Given the description of an element on the screen output the (x, y) to click on. 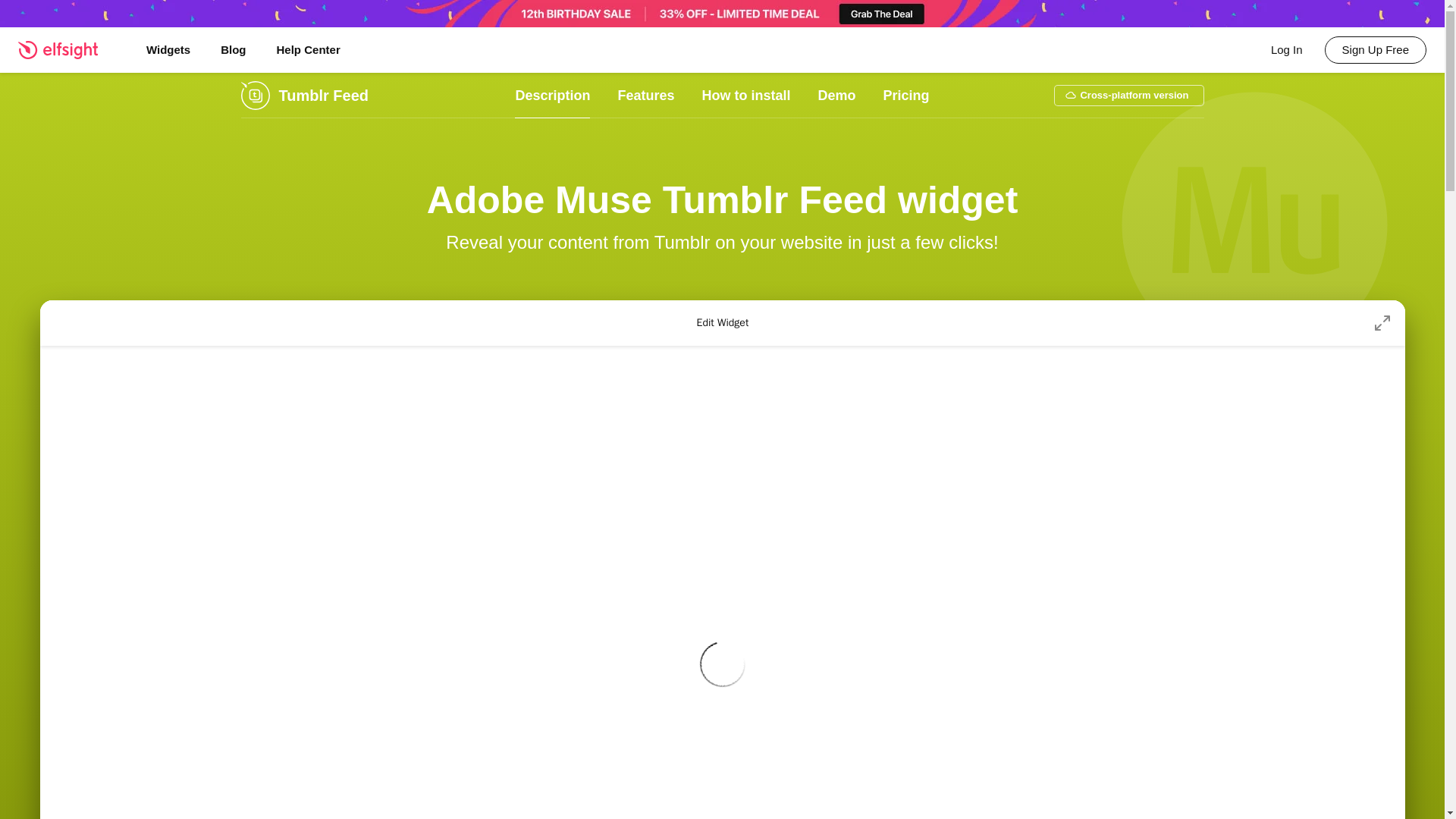
Full Screen (1381, 322)
Elfsight - Premium Plugins For Websites (66, 49)
Widgets (168, 49)
